Given the description of an element on the screen output the (x, y) to click on. 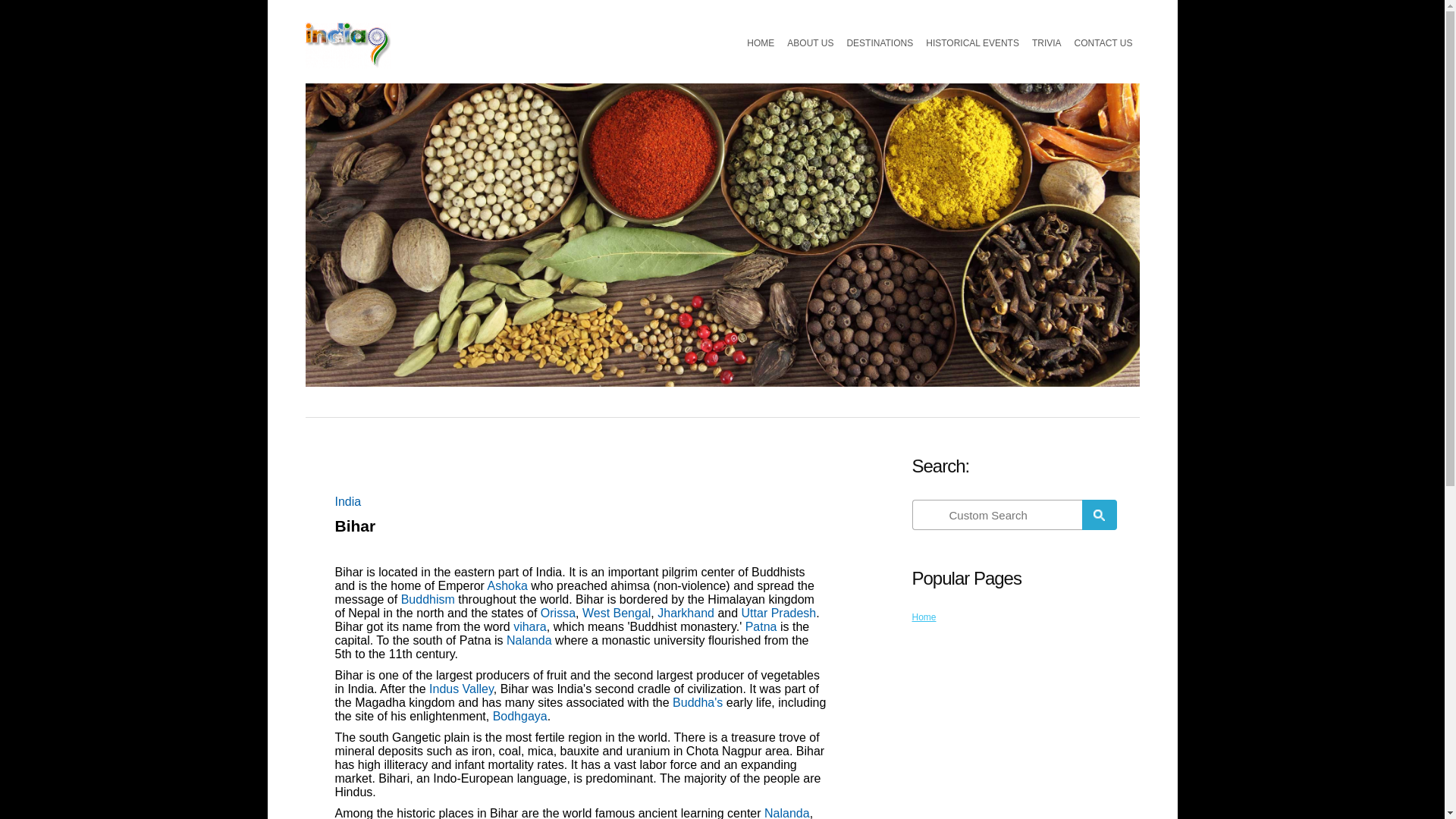
India (347, 501)
HISTORICAL EVENTS (972, 43)
search (1098, 514)
Nalanda (528, 640)
TRIVIA (1046, 43)
Patna (761, 626)
Indus Valley (461, 688)
Orissa (557, 612)
Ashoka (506, 585)
search (997, 514)
